Given the description of an element on the screen output the (x, y) to click on. 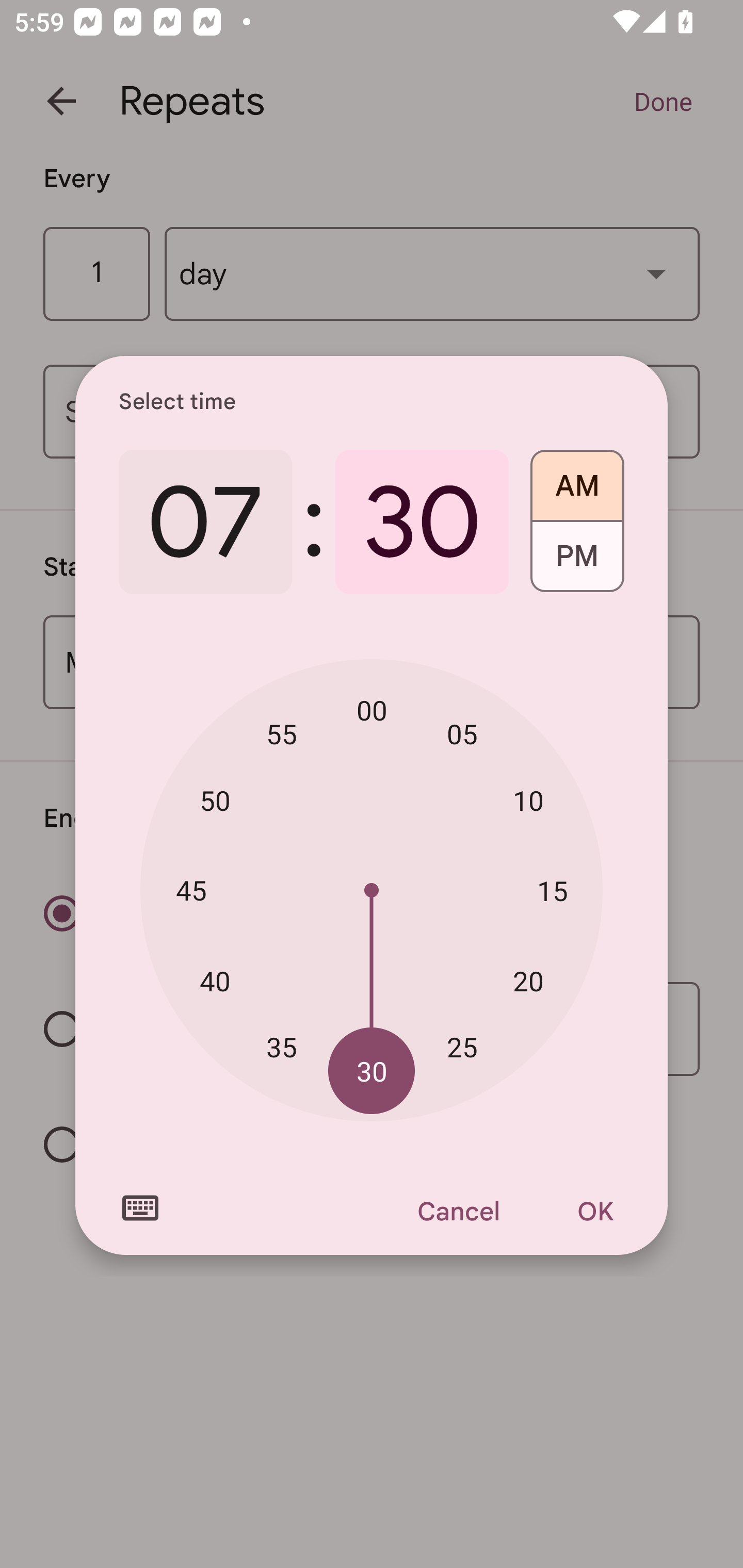
AM (577, 478)
07 7 o'clock (204, 522)
30 30 minutes (421, 522)
PM (577, 563)
00 00 minutes (371, 710)
55 55 minutes (281, 733)
05 05 minutes (462, 733)
50 50 minutes (214, 800)
10 10 minutes (528, 800)
45 45 minutes (190, 889)
15 15 minutes (551, 890)
40 40 minutes (214, 980)
20 20 minutes (528, 980)
35 35 minutes (281, 1046)
25 25 minutes (462, 1046)
30 30 minutes (371, 1071)
Switch to text input mode for the time input. (140, 1208)
Cancel (458, 1211)
OK (595, 1211)
